Given the description of an element on the screen output the (x, y) to click on. 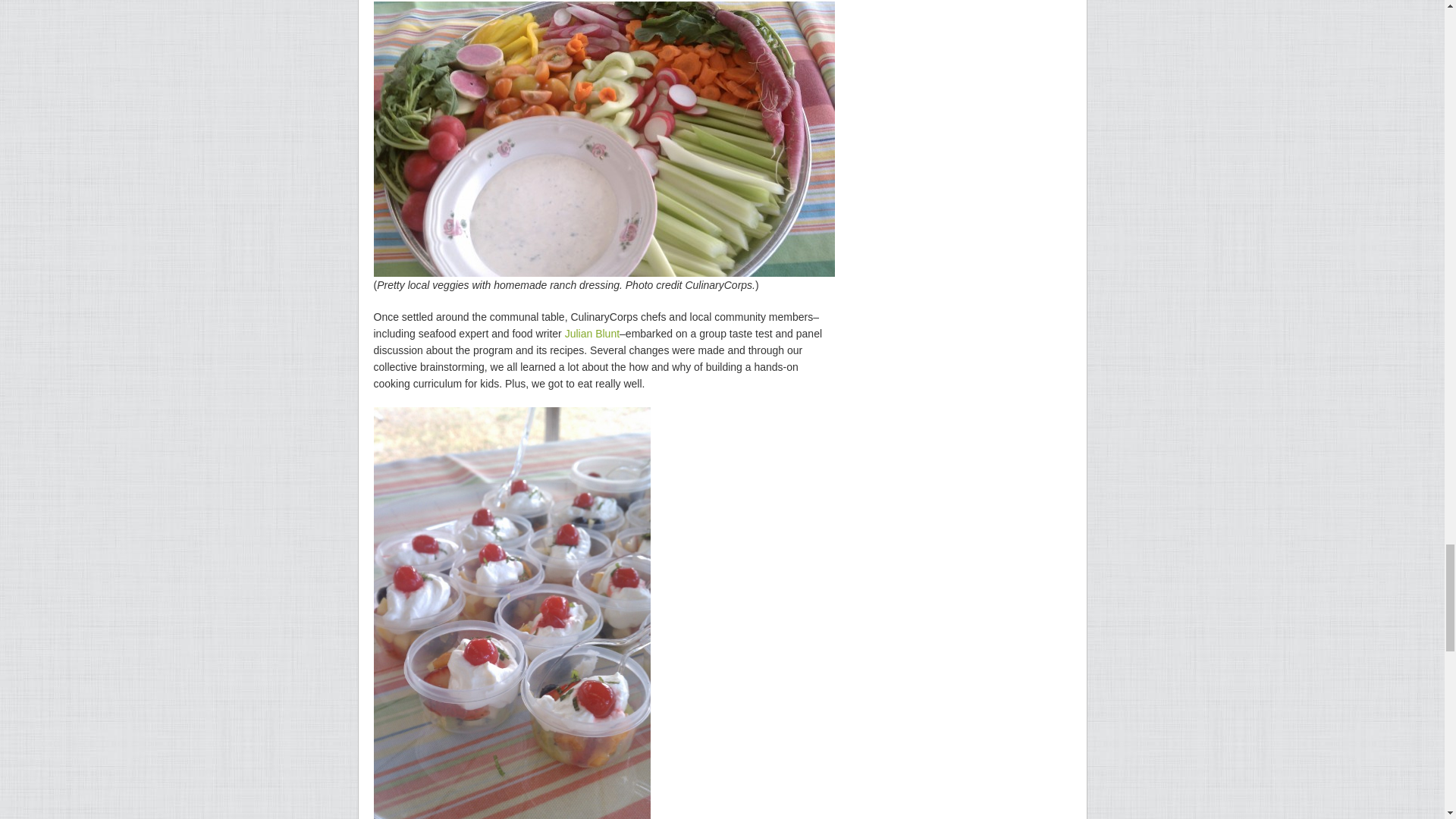
Julian Blunt (592, 333)
IMAG2710 (603, 138)
